Given the description of an element on the screen output the (x, y) to click on. 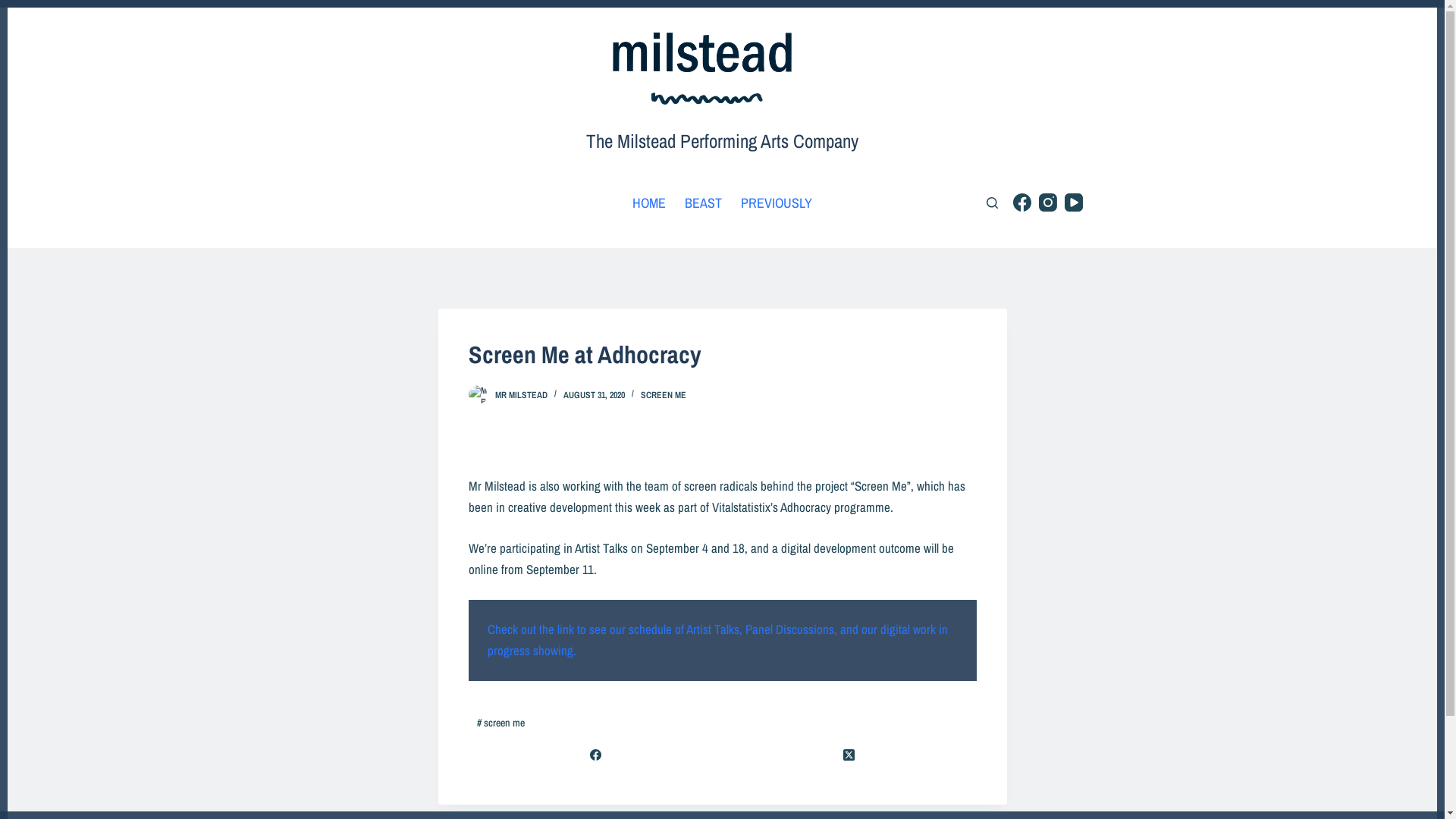
# screen me Element type: text (501, 722)
BEAST Element type: text (702, 202)
Skip to content Element type: text (15, 7)
HOME Element type: text (649, 202)
The Milstead Performing Arts Company Element type: text (722, 140)
PREVIOUSLY Element type: text (776, 202)
SCREEN ME Element type: text (662, 394)
MR MILSTEAD Element type: text (520, 394)
